Given the description of an element on the screen output the (x, y) to click on. 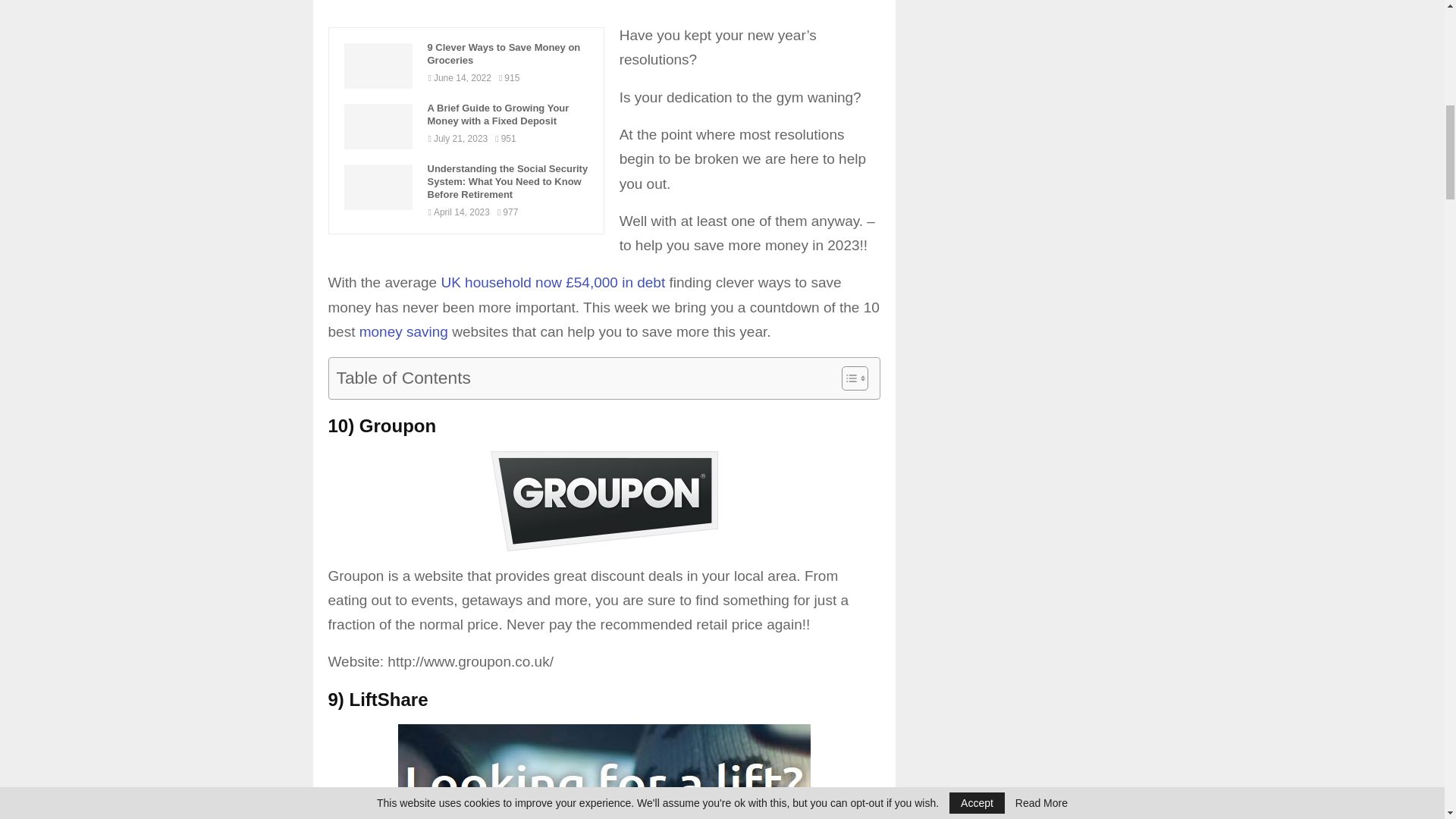
Advertisement (611, 11)
A Brief Guide to Growing Your Money with a Fixed Deposit (508, 114)
9 Clever Ways to Save Money on Groceries (508, 54)
9 Clever Ways to Save Money on Groceries (377, 65)
A Brief Guide to Growing Your Money with a Fixed Deposit (377, 126)
